Given the description of an element on the screen output the (x, y) to click on. 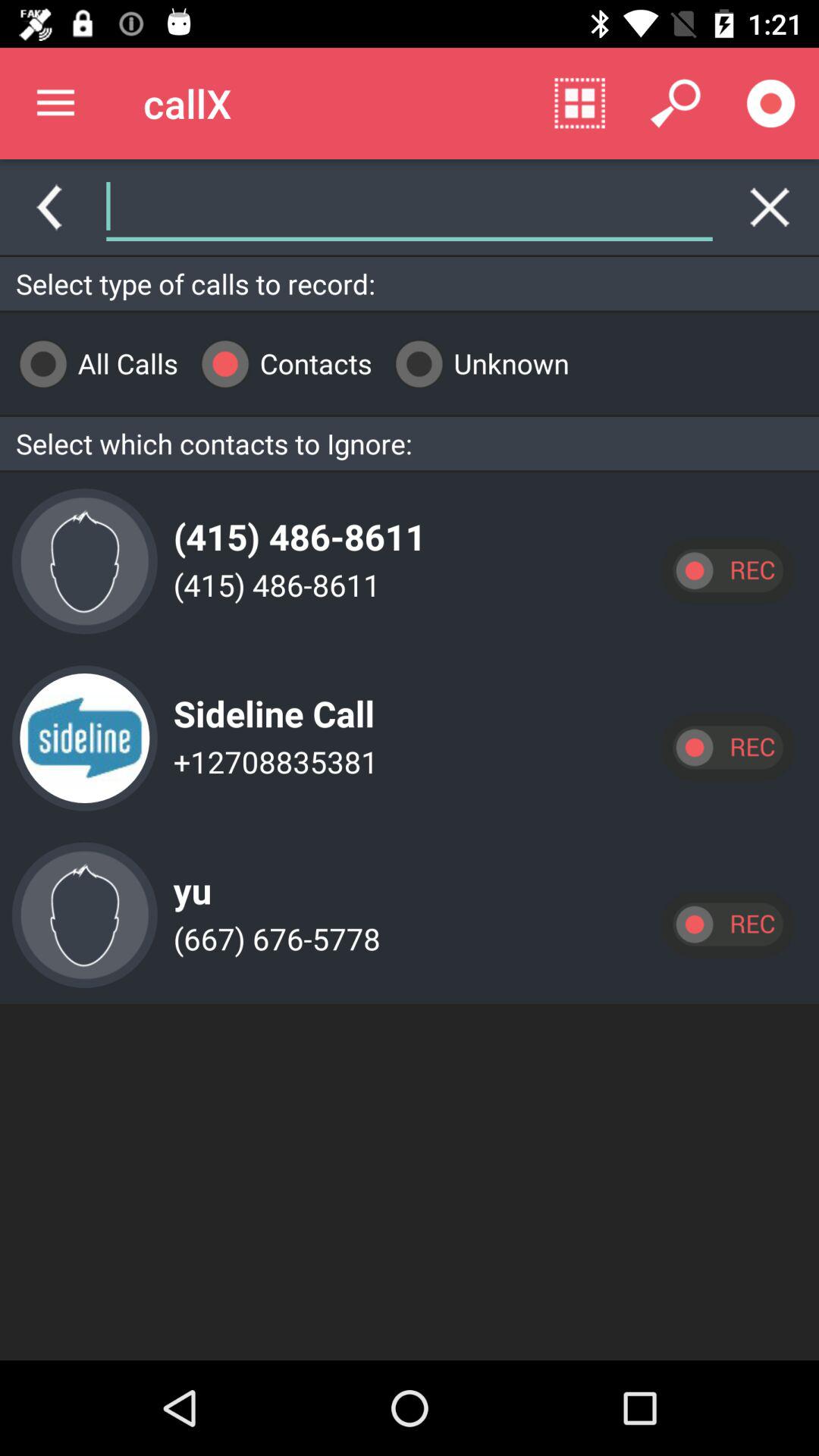
erase text (769, 206)
